Given the description of an element on the screen output the (x, y) to click on. 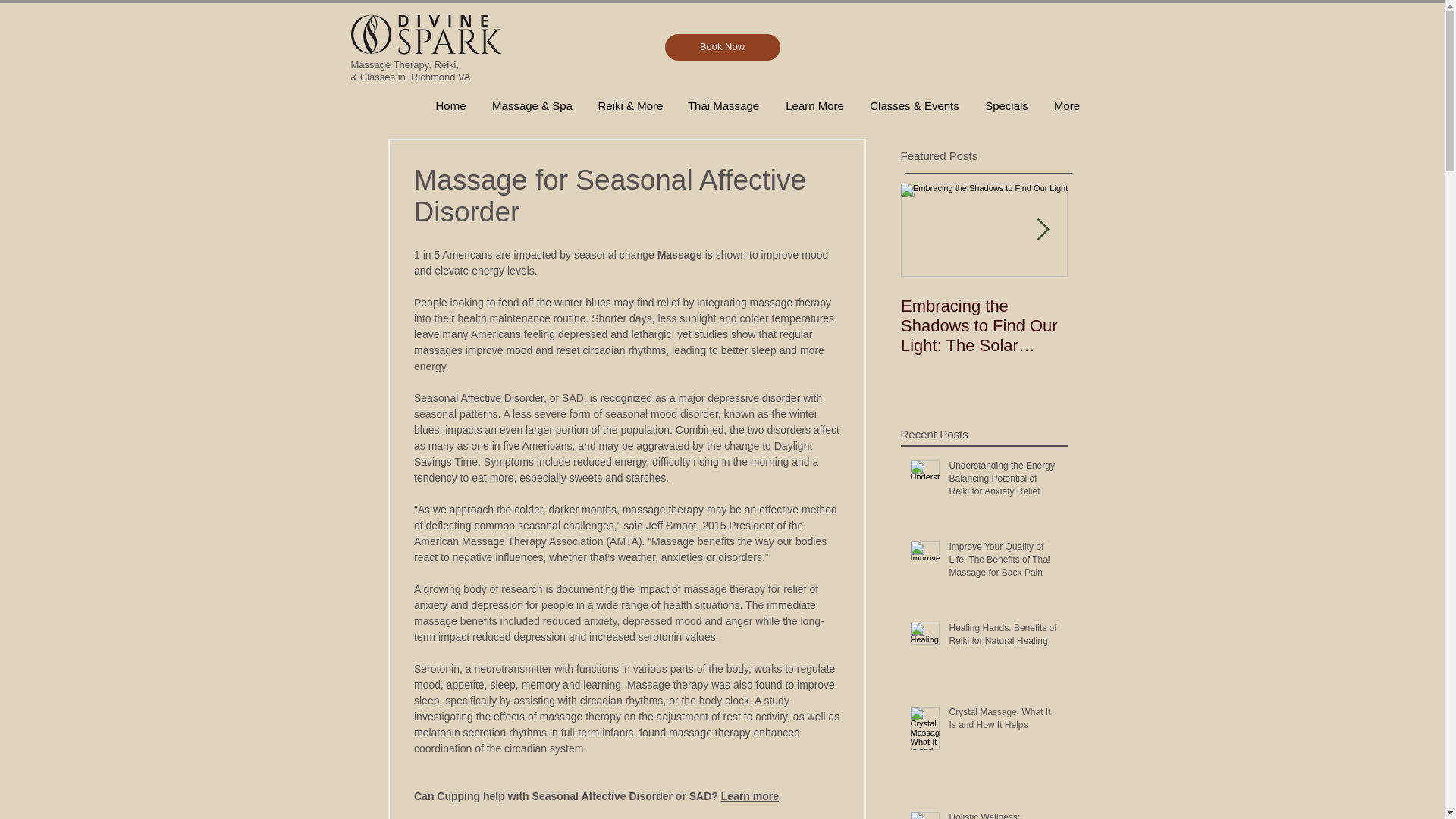
Book Now (720, 47)
Massage Therapy (389, 64)
Home (451, 105)
Thai Massage (721, 105)
